Given the description of an element on the screen output the (x, y) to click on. 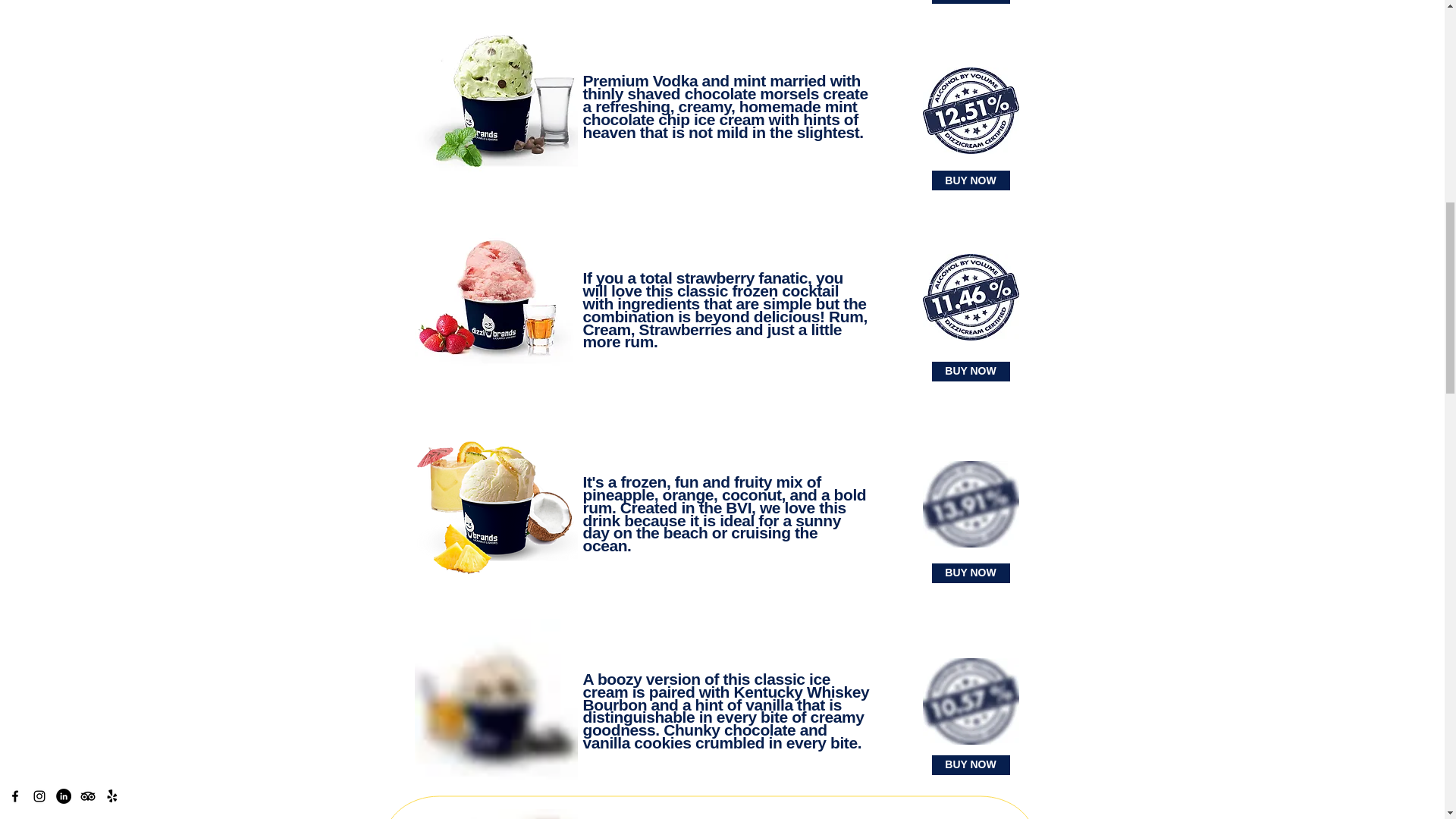
BUY NOW (970, 2)
BUY NOW (970, 764)
BUY NOW (970, 179)
BUY NOW (970, 371)
BUY NOW (970, 572)
